Given the description of an element on the screen output the (x, y) to click on. 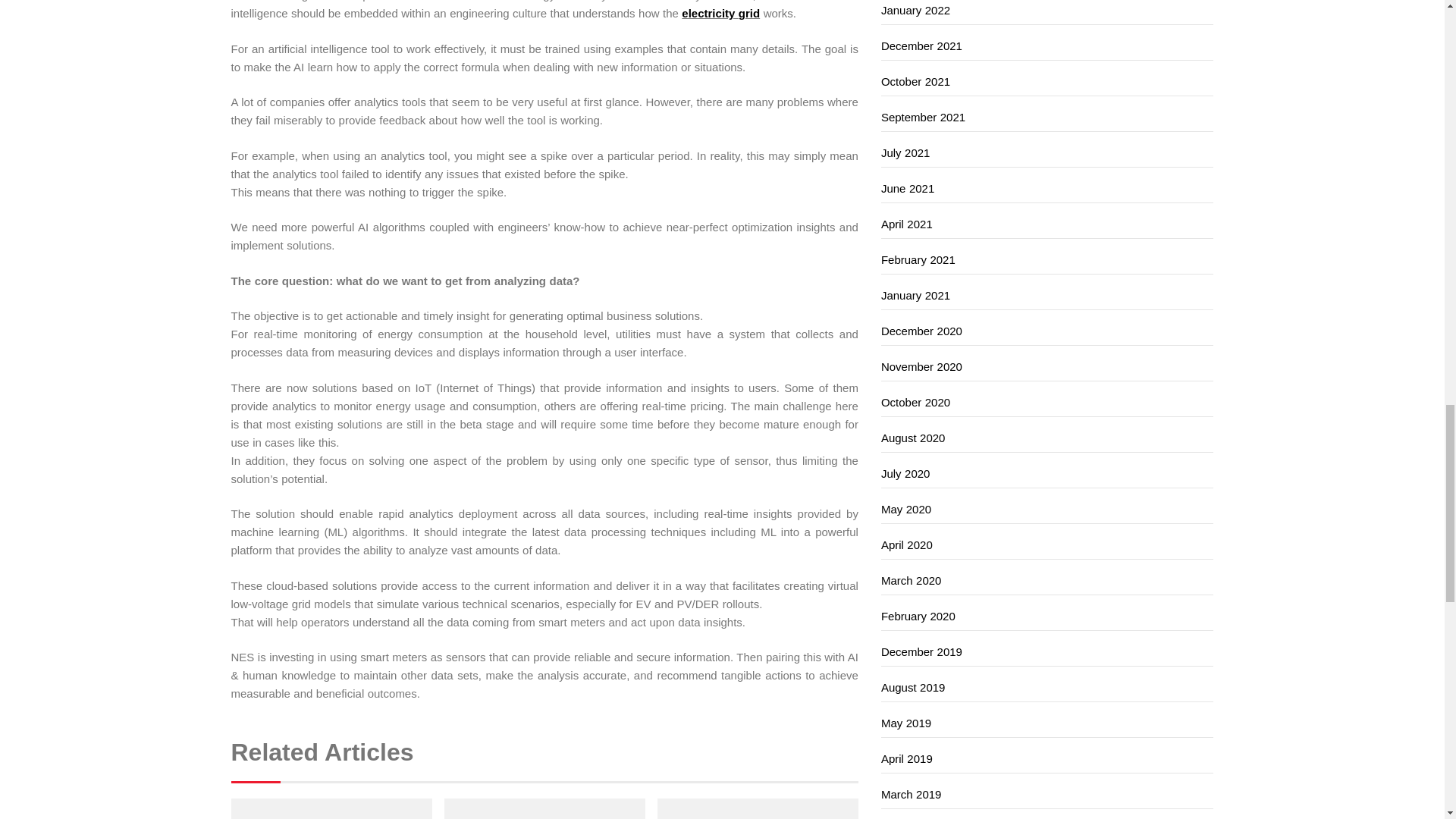
electricity grid (720, 12)
